Given the description of an element on the screen output the (x, y) to click on. 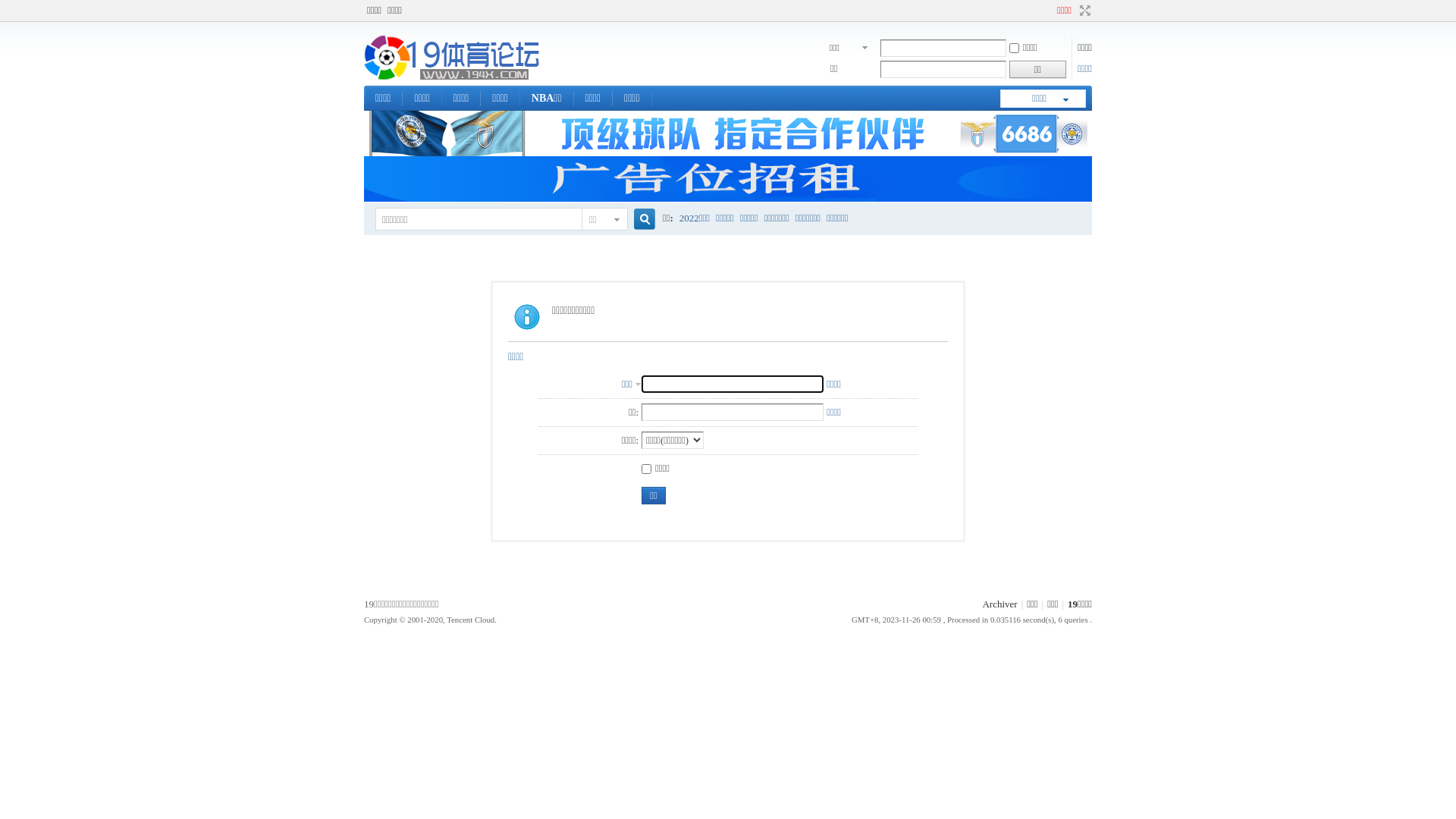
Archiver Element type: text (999, 603)
true Element type: text (638, 219)
